Given the description of an element on the screen output the (x, y) to click on. 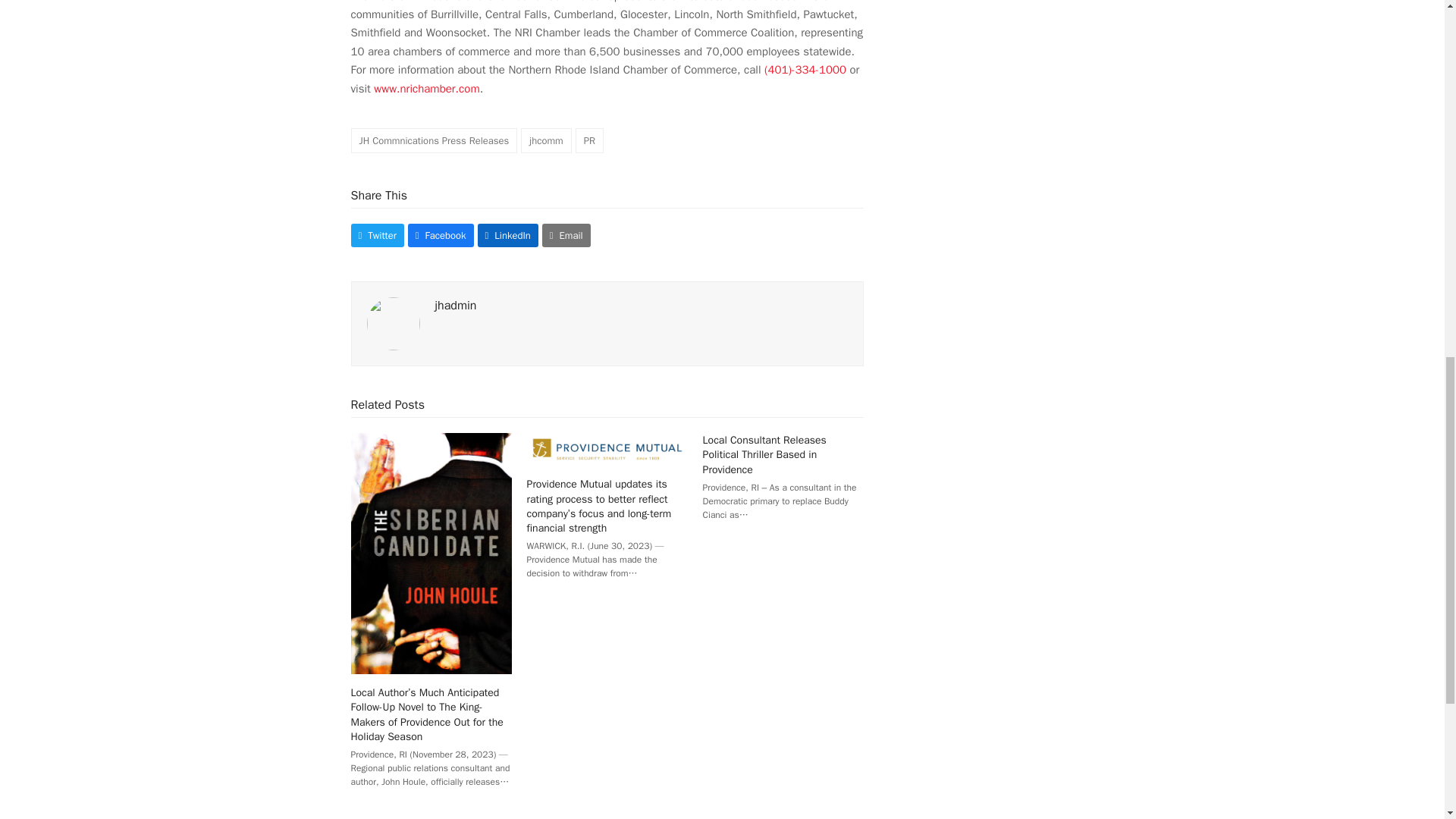
Visit Author Page (456, 305)
www.nrichamber.com (426, 88)
JH Commnications Press Releases (433, 140)
Visit Author Page (393, 322)
